Given the description of an element on the screen output the (x, y) to click on. 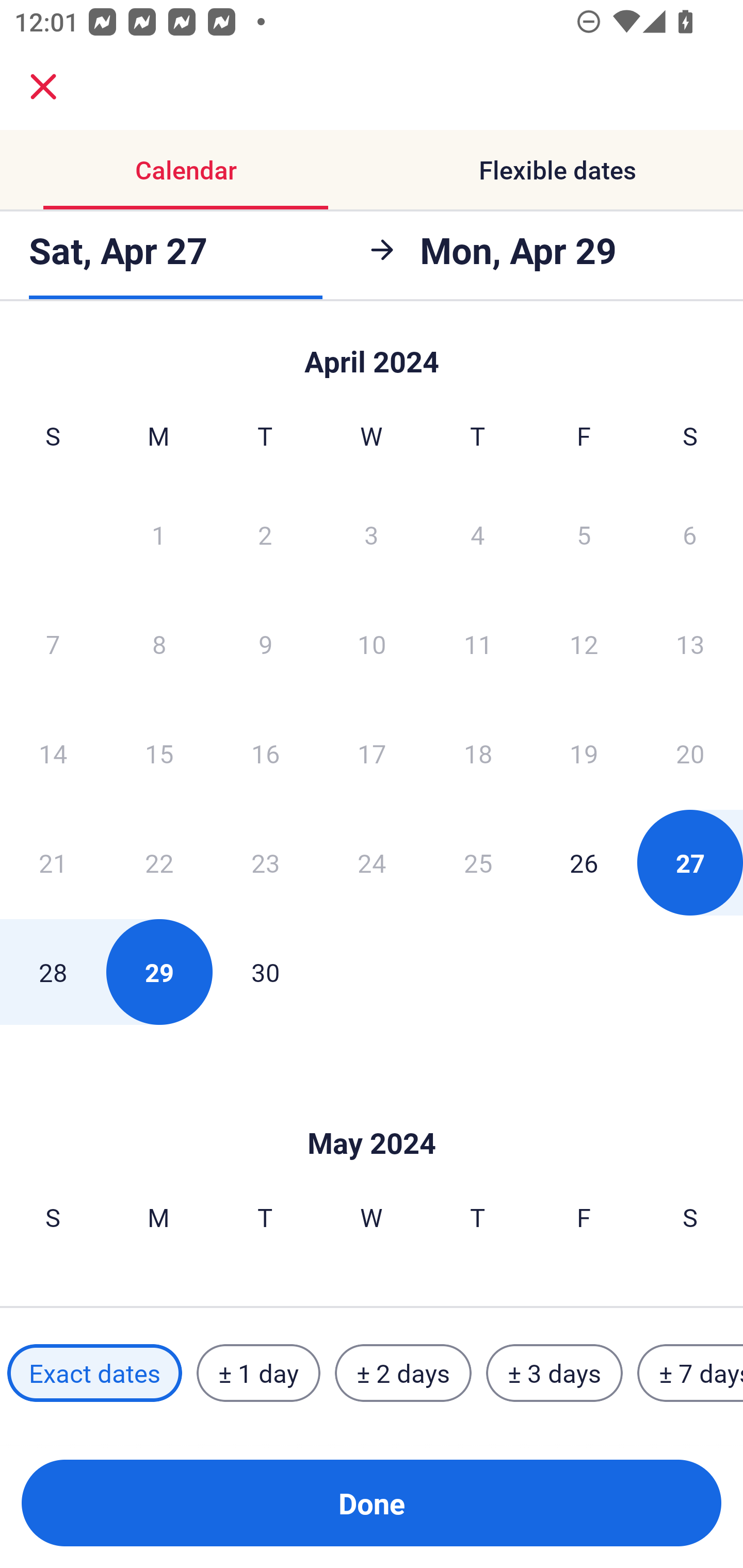
close. (43, 86)
Flexible dates (557, 170)
Skip to Done (371, 352)
1 Monday, April 1, 2024 (158, 534)
2 Tuesday, April 2, 2024 (264, 534)
3 Wednesday, April 3, 2024 (371, 534)
4 Thursday, April 4, 2024 (477, 534)
5 Friday, April 5, 2024 (583, 534)
6 Saturday, April 6, 2024 (689, 534)
7 Sunday, April 7, 2024 (53, 643)
8 Monday, April 8, 2024 (159, 643)
9 Tuesday, April 9, 2024 (265, 643)
10 Wednesday, April 10, 2024 (371, 643)
11 Thursday, April 11, 2024 (477, 643)
12 Friday, April 12, 2024 (584, 643)
13 Saturday, April 13, 2024 (690, 643)
14 Sunday, April 14, 2024 (53, 752)
15 Monday, April 15, 2024 (159, 752)
16 Tuesday, April 16, 2024 (265, 752)
17 Wednesday, April 17, 2024 (371, 752)
18 Thursday, April 18, 2024 (477, 752)
19 Friday, April 19, 2024 (584, 752)
20 Saturday, April 20, 2024 (690, 752)
21 Sunday, April 21, 2024 (53, 862)
22 Monday, April 22, 2024 (159, 862)
23 Tuesday, April 23, 2024 (265, 862)
24 Wednesday, April 24, 2024 (371, 862)
25 Thursday, April 25, 2024 (477, 862)
26 Friday, April 26, 2024 (584, 862)
30 Tuesday, April 30, 2024 (265, 971)
Skip to Done (371, 1112)
Exact dates (94, 1372)
± 1 day (258, 1372)
± 2 days (403, 1372)
± 3 days (553, 1372)
± 7 days (690, 1372)
Done (371, 1502)
